Given the description of an element on the screen output the (x, y) to click on. 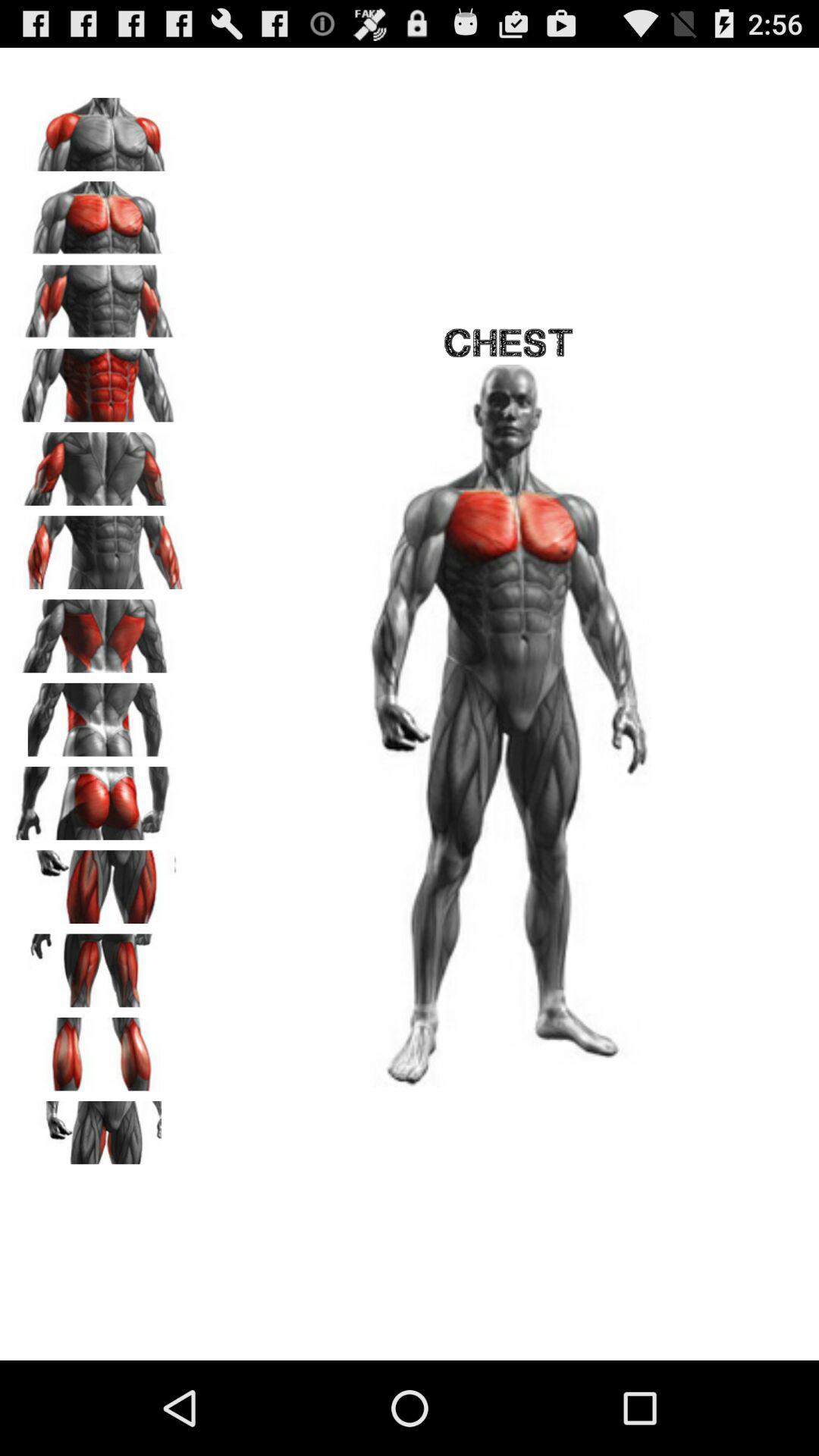
focus on calves (99, 1048)
